Given the description of an element on the screen output the (x, y) to click on. 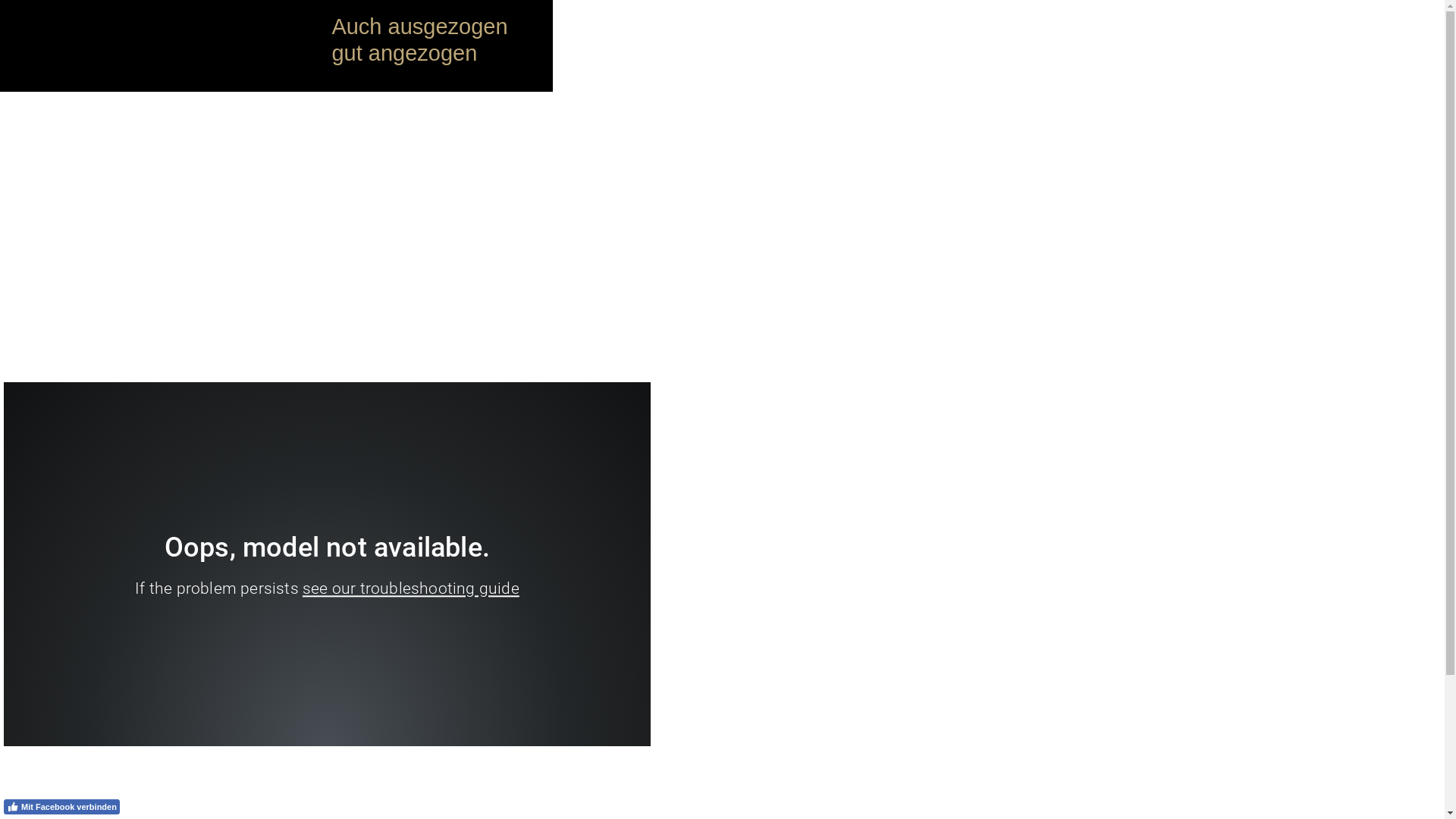
Mit Facebook verbinden Element type: text (61, 806)
